Given the description of an element on the screen output the (x, y) to click on. 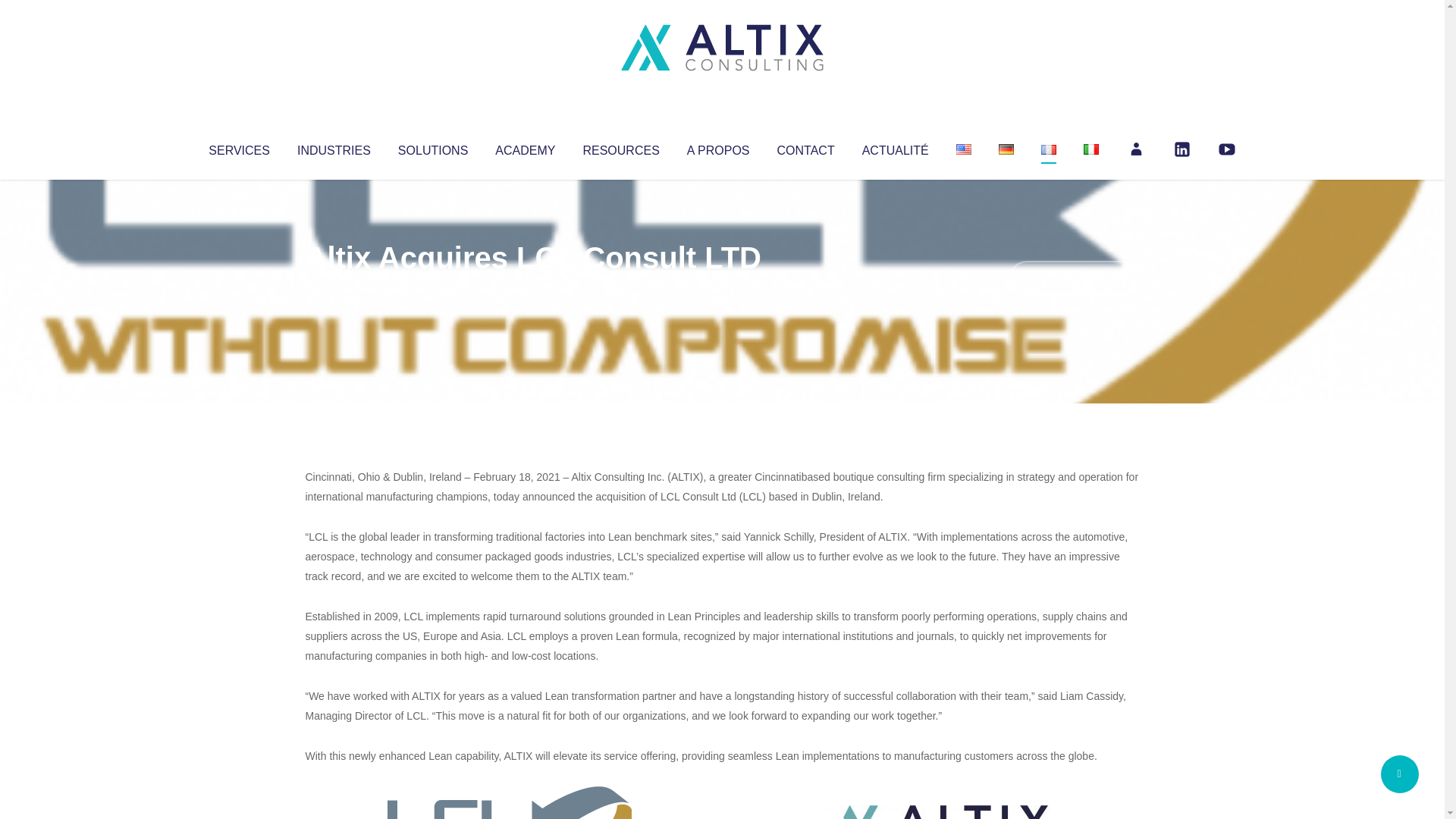
Articles par Altix (333, 287)
INDUSTRIES (334, 146)
Altix (333, 287)
RESOURCES (620, 146)
Uncategorized (530, 287)
ACADEMY (524, 146)
SOLUTIONS (432, 146)
SERVICES (238, 146)
No Comments (1073, 278)
A PROPOS (718, 146)
